Given the description of an element on the screen output the (x, y) to click on. 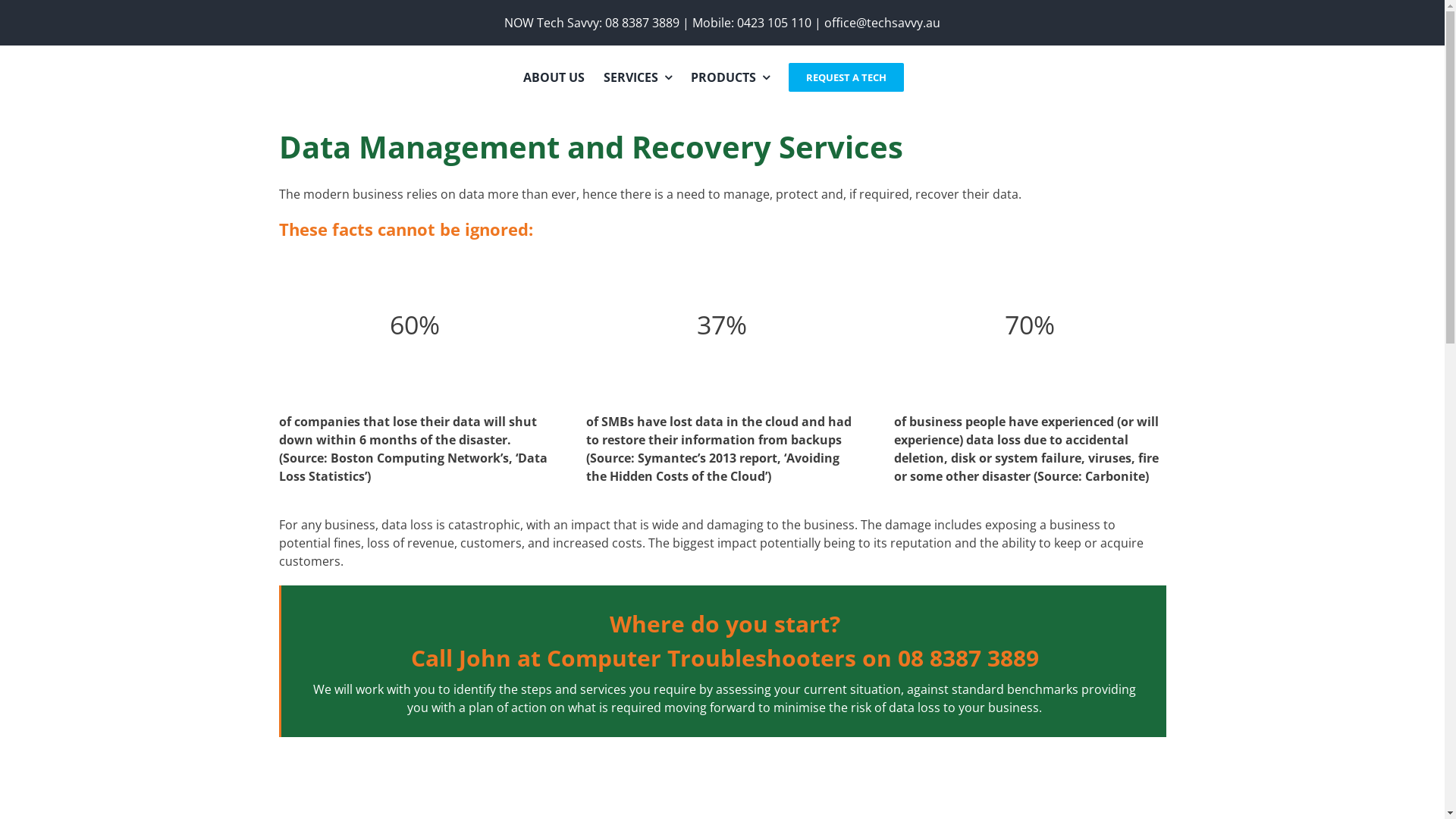
PRODUCTS Element type: text (729, 77)
0423 105 110 Element type: text (774, 22)
ABOUT US Element type: text (553, 77)
office@techsavvy.au Element type: text (882, 22)
SERVICES Element type: text (637, 77)
08 8387 3889 Element type: text (642, 22)
REQUEST A TECH Element type: text (845, 77)
